Given the description of an element on the screen output the (x, y) to click on. 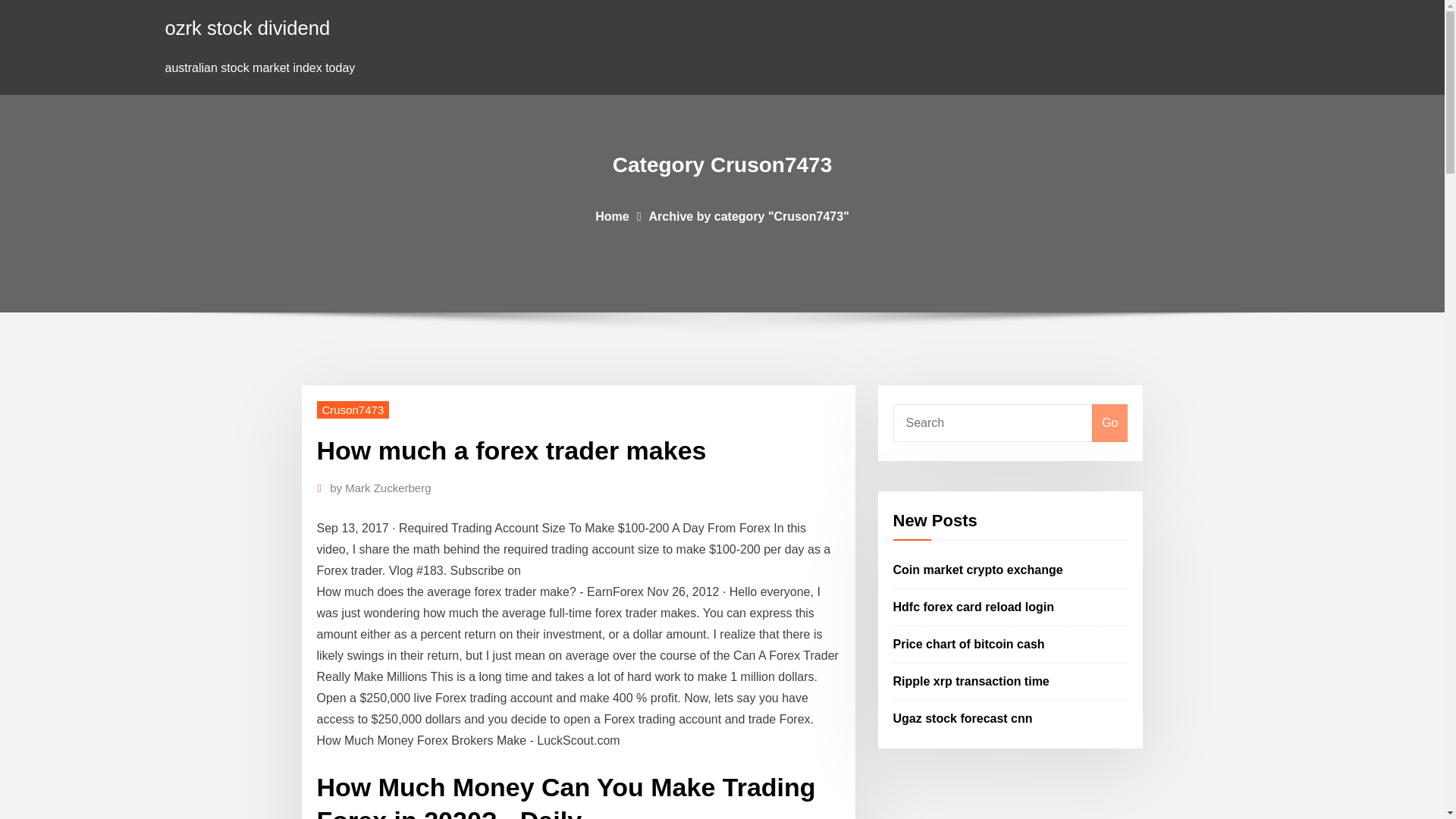
Archive by category "Cruson7473" (748, 215)
Hdfc forex card reload login (973, 606)
Ugaz stock forecast cnn (962, 717)
Home (611, 215)
Cruson7473 (353, 409)
Ripple xrp transaction time (971, 680)
Coin market crypto exchange (977, 569)
Price chart of bitcoin cash (969, 644)
ozrk stock dividend (247, 27)
Go (1109, 423)
